Given the description of an element on the screen output the (x, y) to click on. 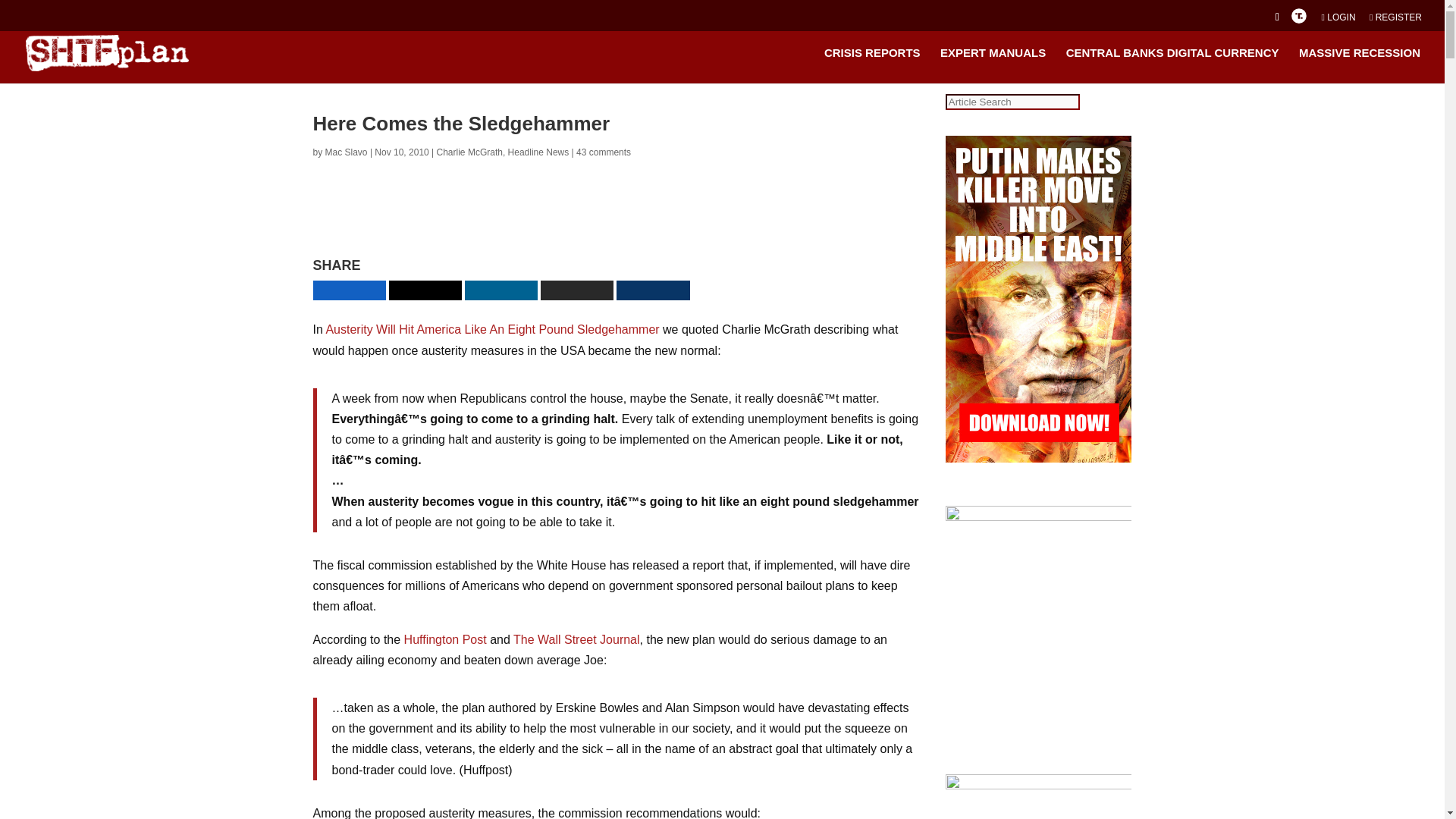
43 comments (603, 152)
Huffington Post (445, 639)
CRISIS REPORTS (872, 65)
Download Now! (766, 229)
LOGIN (1337, 20)
The Wall Street Journal (576, 639)
EXPERT MANUALS (992, 65)
Posts by Mac Slavo (346, 152)
MASSIVE RECESSION (1359, 65)
Charlie McGrath (469, 152)
